Given the description of an element on the screen output the (x, y) to click on. 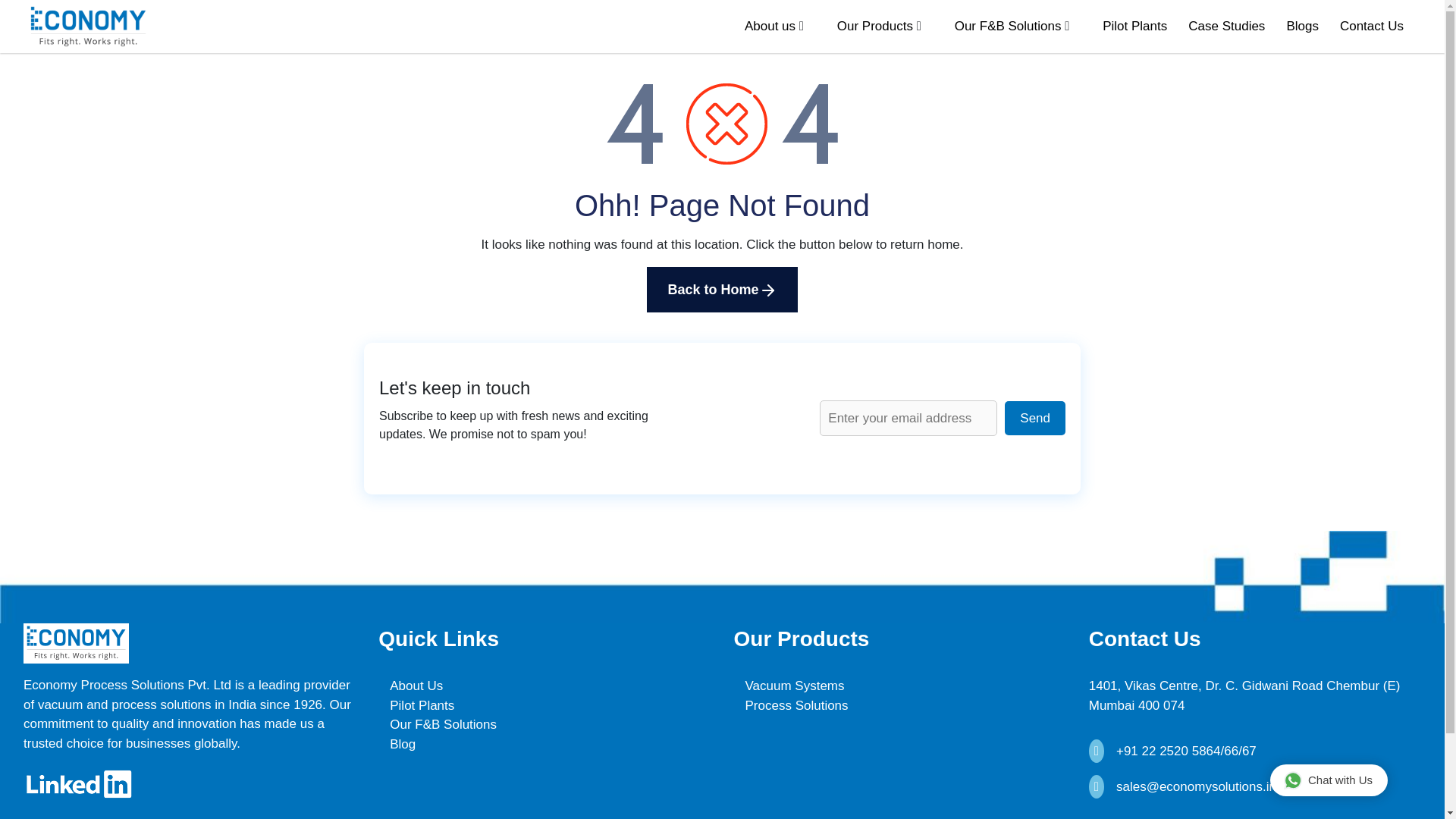
Show Chat (1328, 780)
Our Products (874, 25)
About us (769, 25)
